Given the description of an element on the screen output the (x, y) to click on. 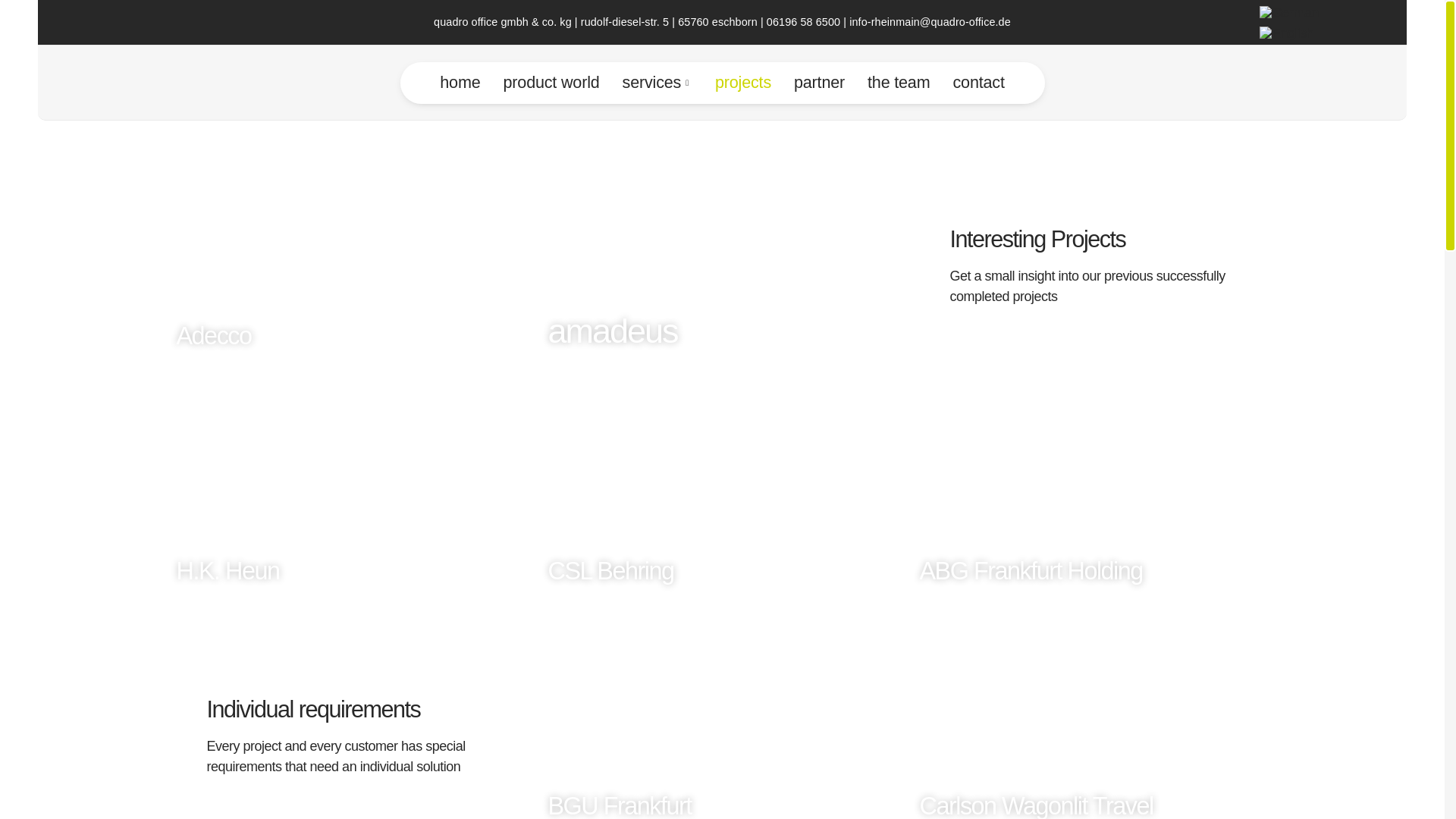
amadeus (722, 241)
the team (898, 83)
product world (551, 83)
BGU Frankfurt (722, 708)
Carlson Wagonlit Travel (1093, 708)
Adecco (350, 241)
ABG Frankfurt Holding (1093, 476)
H.K. Heun (350, 476)
projects (743, 83)
services (657, 83)
